Given the description of an element on the screen output the (x, y) to click on. 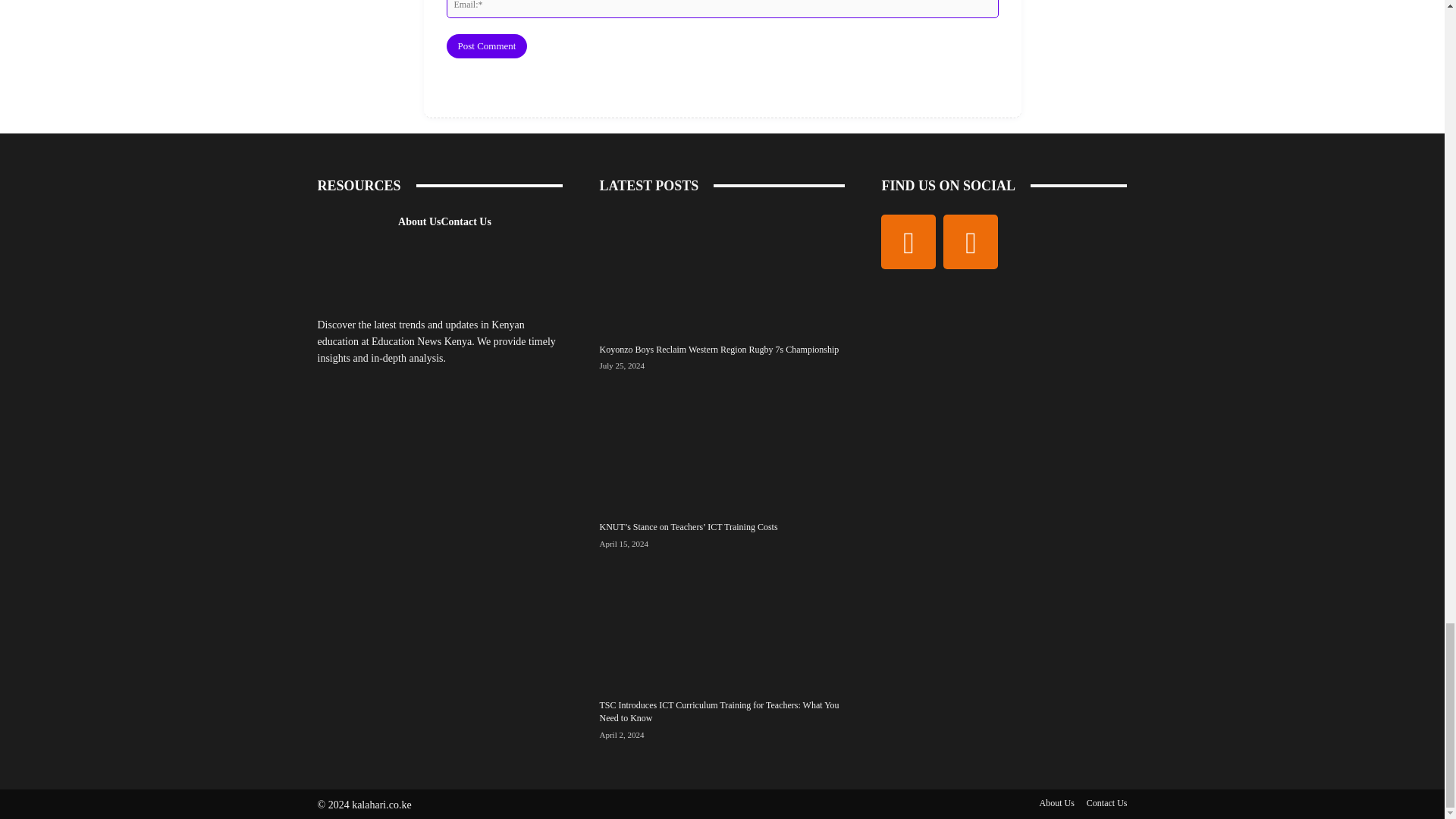
Twitter (970, 241)
Facebook (908, 241)
Koyonzo Boys Reclaim Western Region Rugby 7s Championship (718, 348)
Post Comment (486, 46)
Koyonzo Boys Reclaim Western Region Rugby 7s Championship (721, 271)
